Given the description of an element on the screen output the (x, y) to click on. 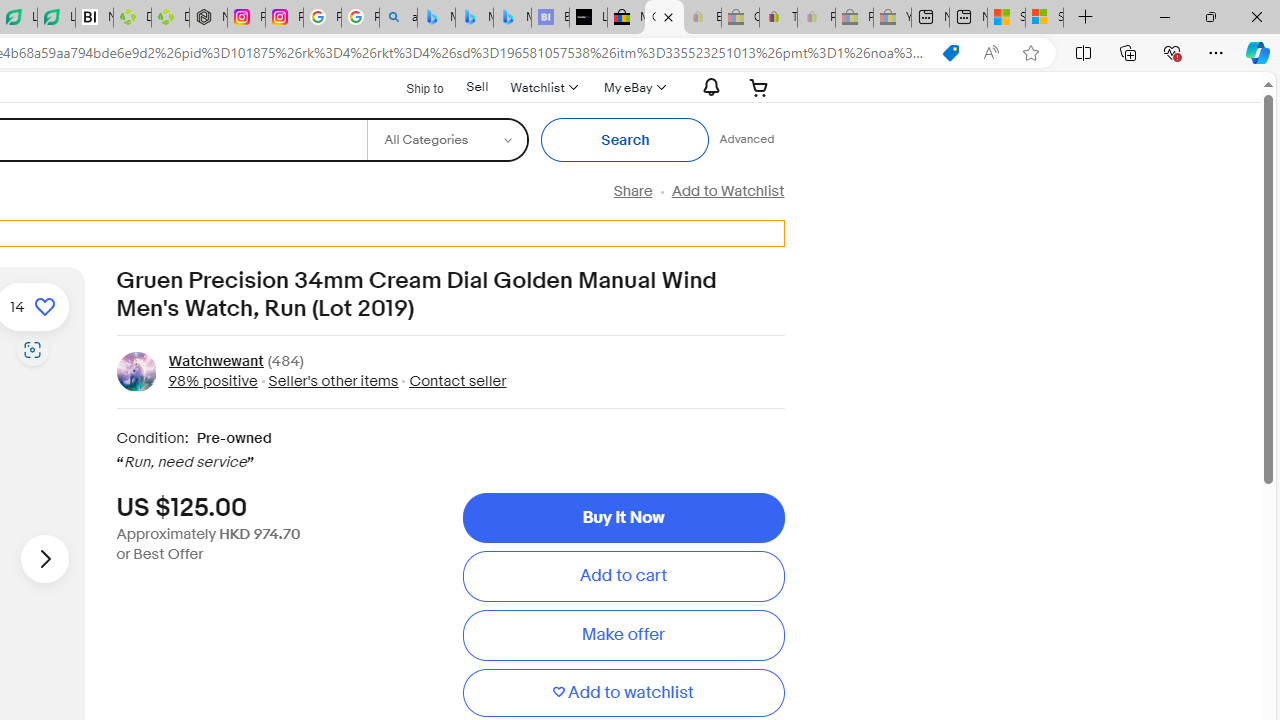
Shanghai, China hourly forecast | Microsoft Weather (1006, 17)
Add to Watchlist (727, 191)
Make offer (623, 635)
Add to watchlist (623, 692)
Add to cart (623, 576)
Nvidia va a poner a prueba la paciencia de los inversores (93, 17)
